Given the description of an element on the screen output the (x, y) to click on. 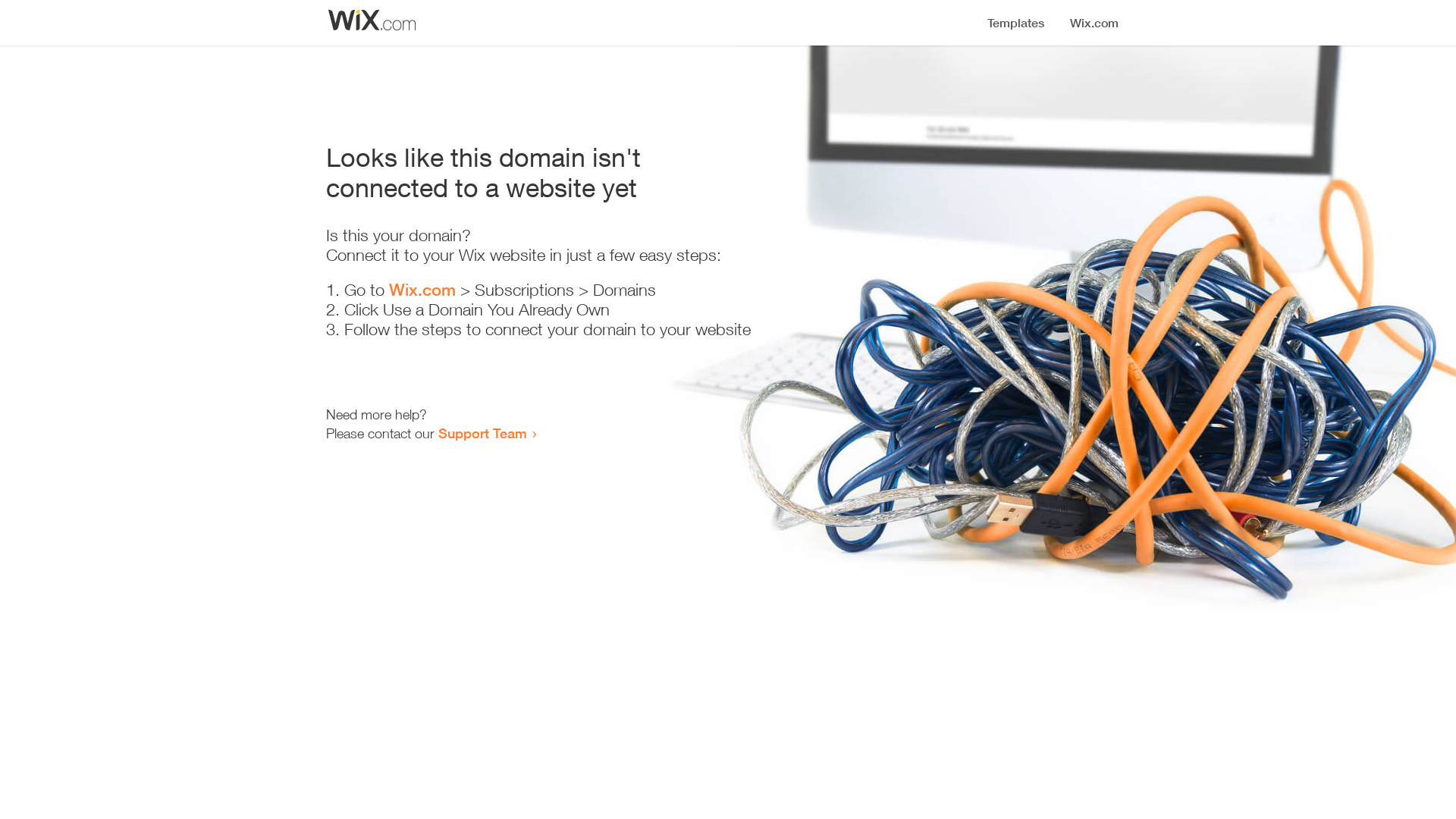
Wix.com Element type: text (422, 289)
Support Team Element type: text (482, 432)
